Given the description of an element on the screen output the (x, y) to click on. 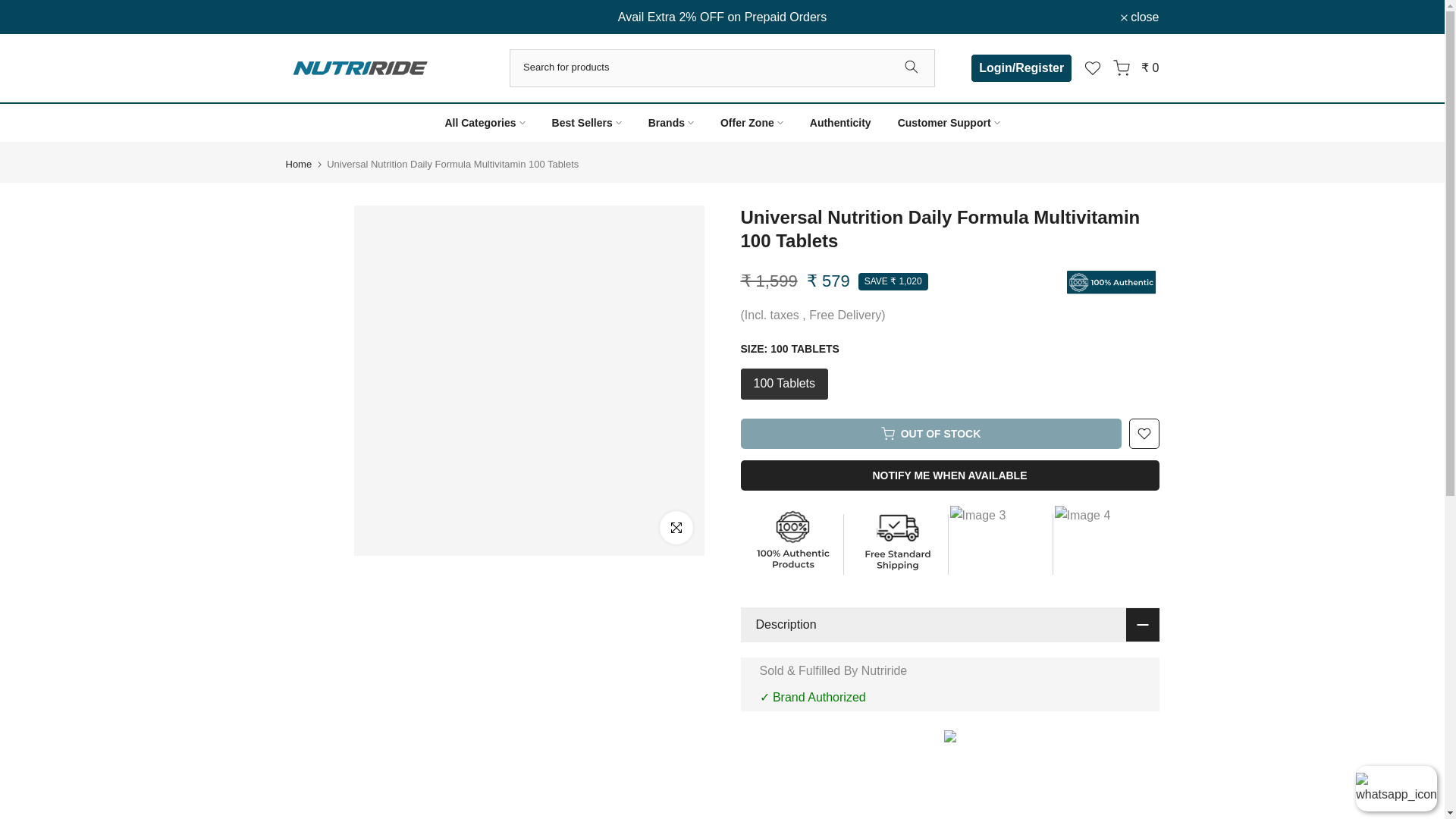
All Categories (484, 122)
OUT OF STOCK (930, 433)
Skip to content (10, 7)
Home (298, 163)
close (1139, 16)
Offer Zone (751, 122)
Brands (670, 122)
Authenticity (839, 122)
Customer Support (948, 122)
Best Sellers (586, 122)
